Given the description of an element on the screen output the (x, y) to click on. 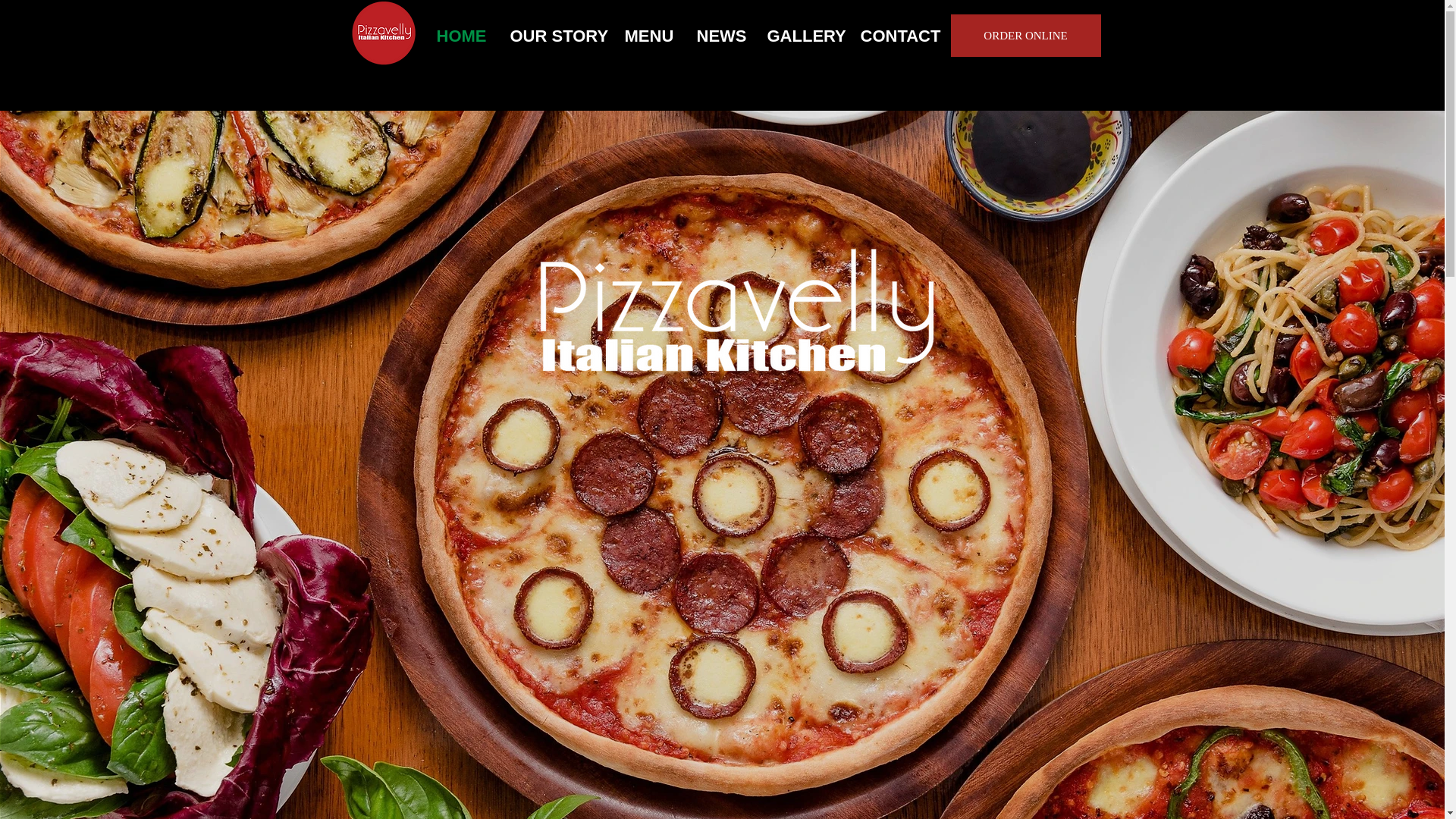
CONTACT (900, 36)
NEWS (720, 36)
GALLERY (801, 36)
HOME (461, 36)
OUR STORY (555, 36)
ORDER ONLINE (1025, 35)
